Given the description of an element on the screen output the (x, y) to click on. 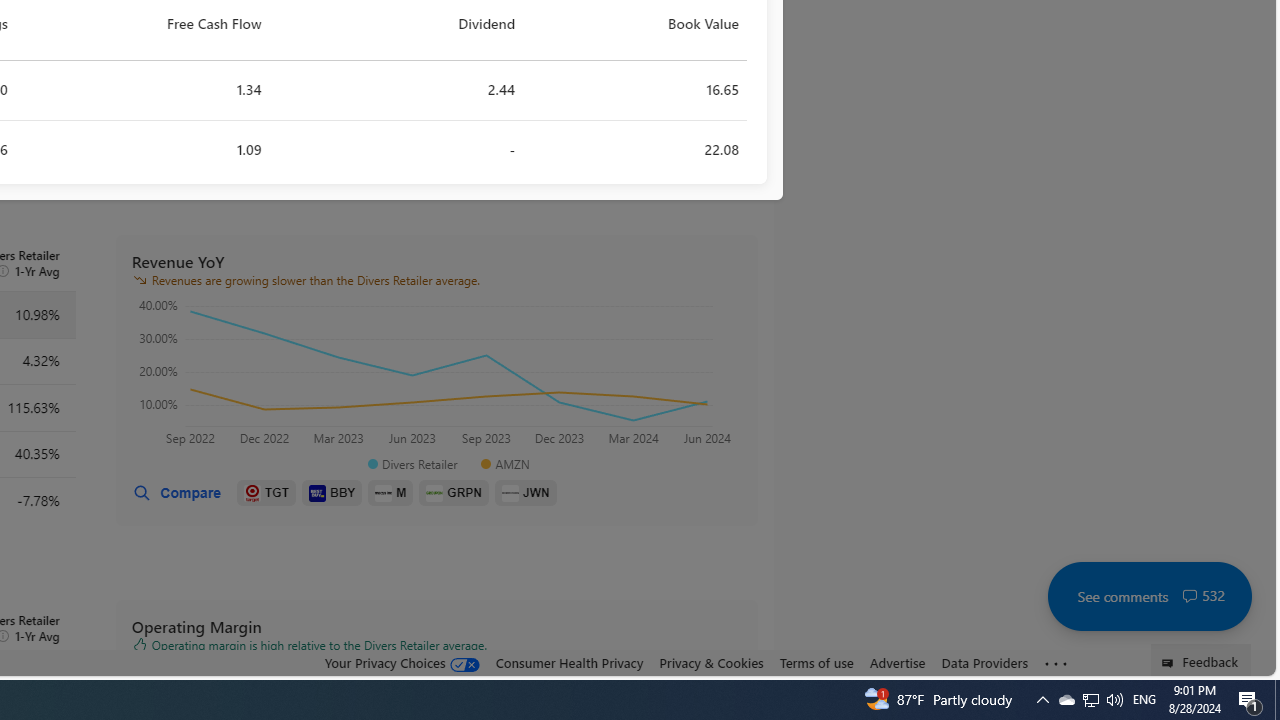
TGT (265, 493)
Your Privacy Choices (401, 663)
BBY (332, 493)
Privacy & Cookies (711, 662)
Your Privacy Choices (401, 662)
Class: cwt-icon-vector (1190, 596)
See comments 532 (1149, 596)
JWN (525, 493)
Compare (175, 493)
Privacy & Cookies (711, 663)
Class: react-financial-charts (436, 375)
Advertise (897, 663)
Class: feedback_link_icon-DS-EntryPoint1-1 (1170, 663)
Class: imagIcon-DS-EntryPoint1-1 (510, 492)
